Given the description of an element on the screen output the (x, y) to click on. 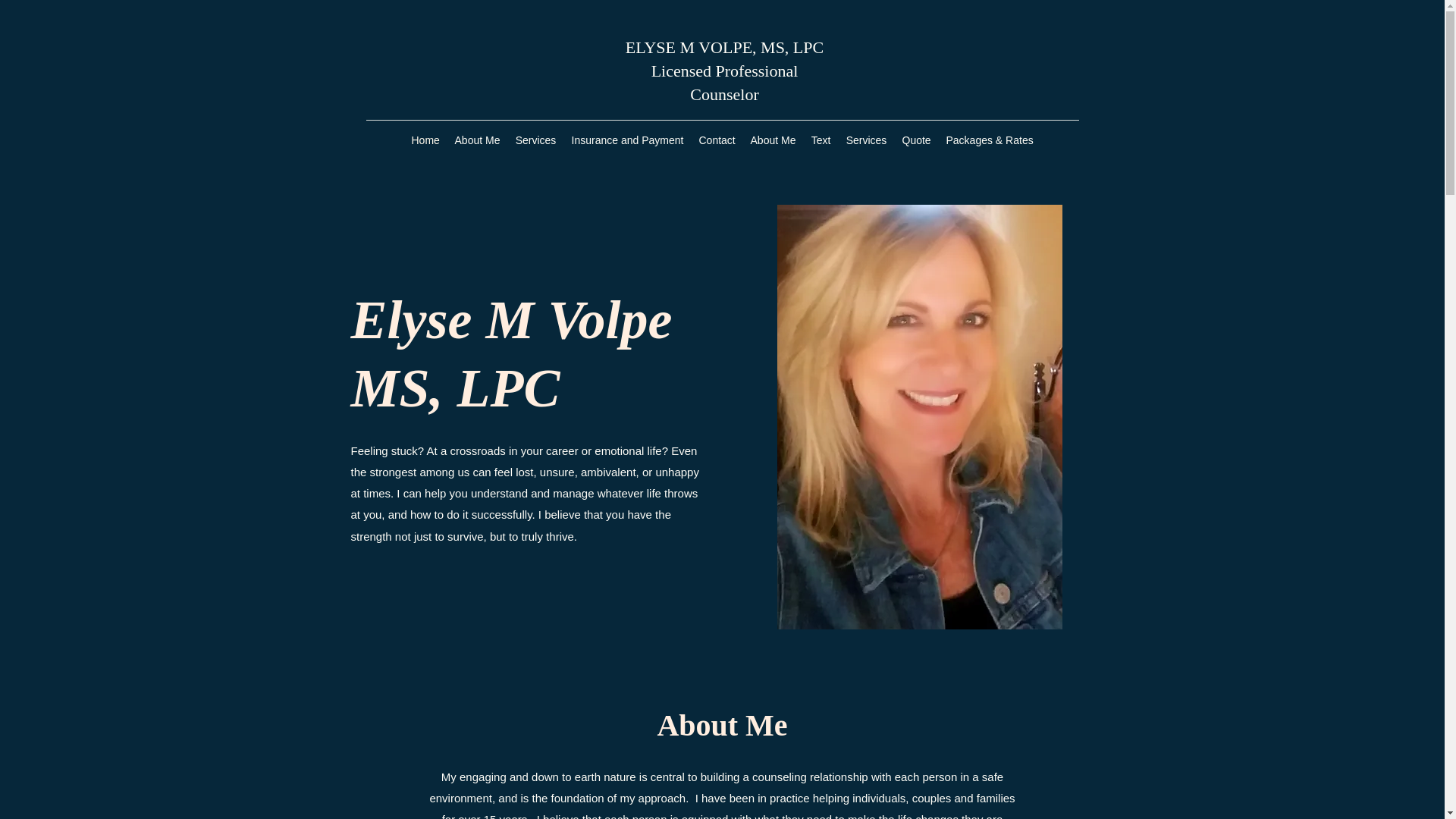
Text (820, 139)
Home (424, 139)
About Me (772, 139)
ELYSE M VOLPE, MS, LPC (725, 46)
About Me (477, 139)
Quote (917, 139)
Services (866, 139)
Services (536, 139)
Contact (716, 139)
Insurance and Payment (627, 139)
